Given the description of an element on the screen output the (x, y) to click on. 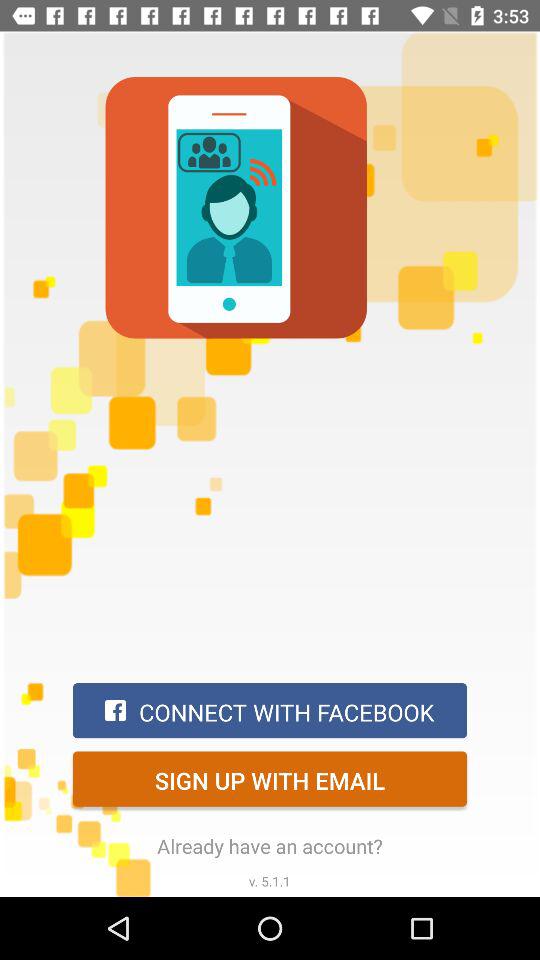
select the icon above already have an (269, 778)
